Given the description of an element on the screen output the (x, y) to click on. 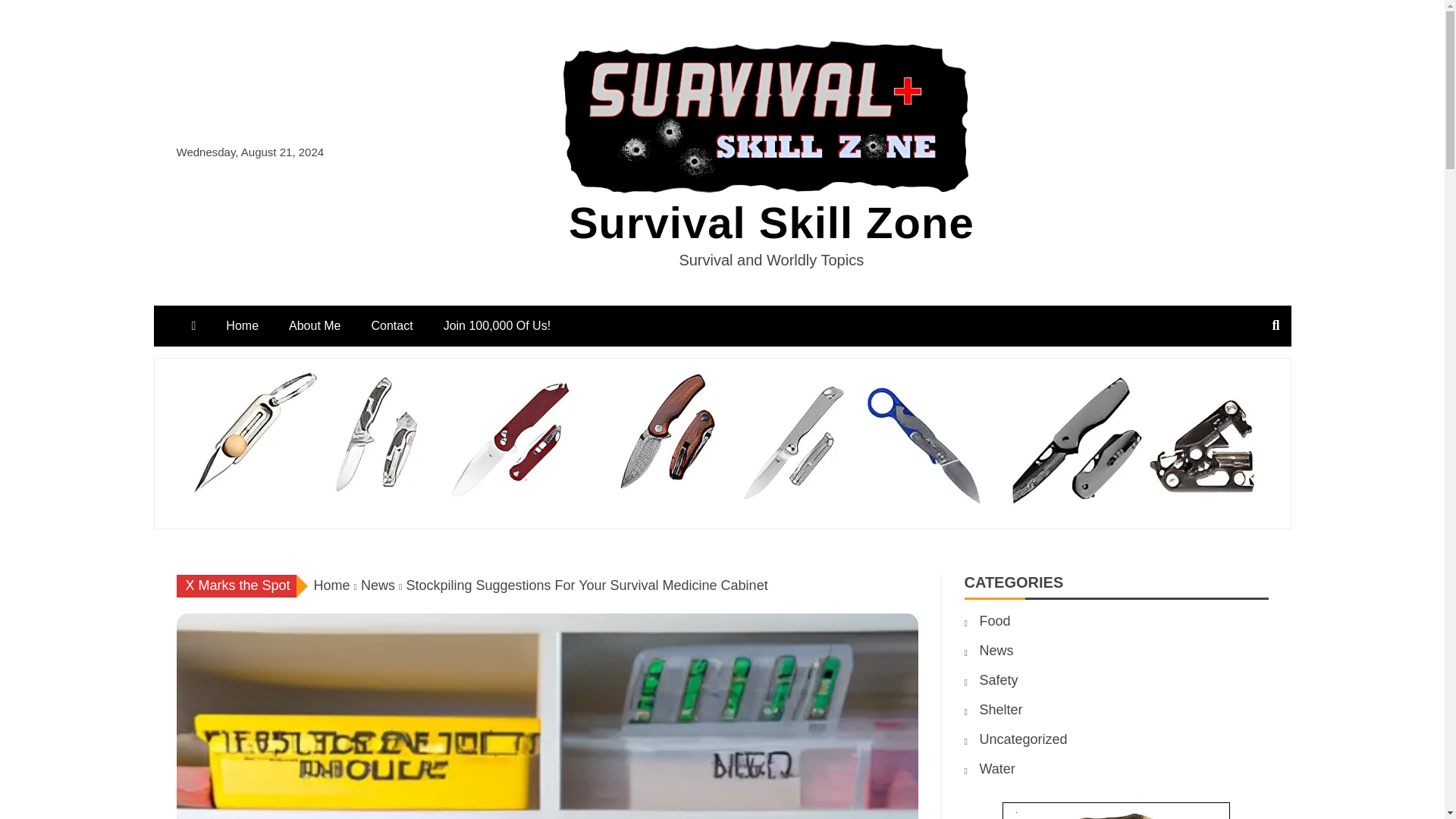
Join 100,000 Of Us! (497, 325)
Survival Skill Zone (771, 222)
Water (996, 768)
News (996, 650)
Safety (998, 679)
Contact (392, 325)
Home (332, 585)
Home (242, 325)
About Me (314, 325)
Shelter (1001, 709)
